Given the description of an element on the screen output the (x, y) to click on. 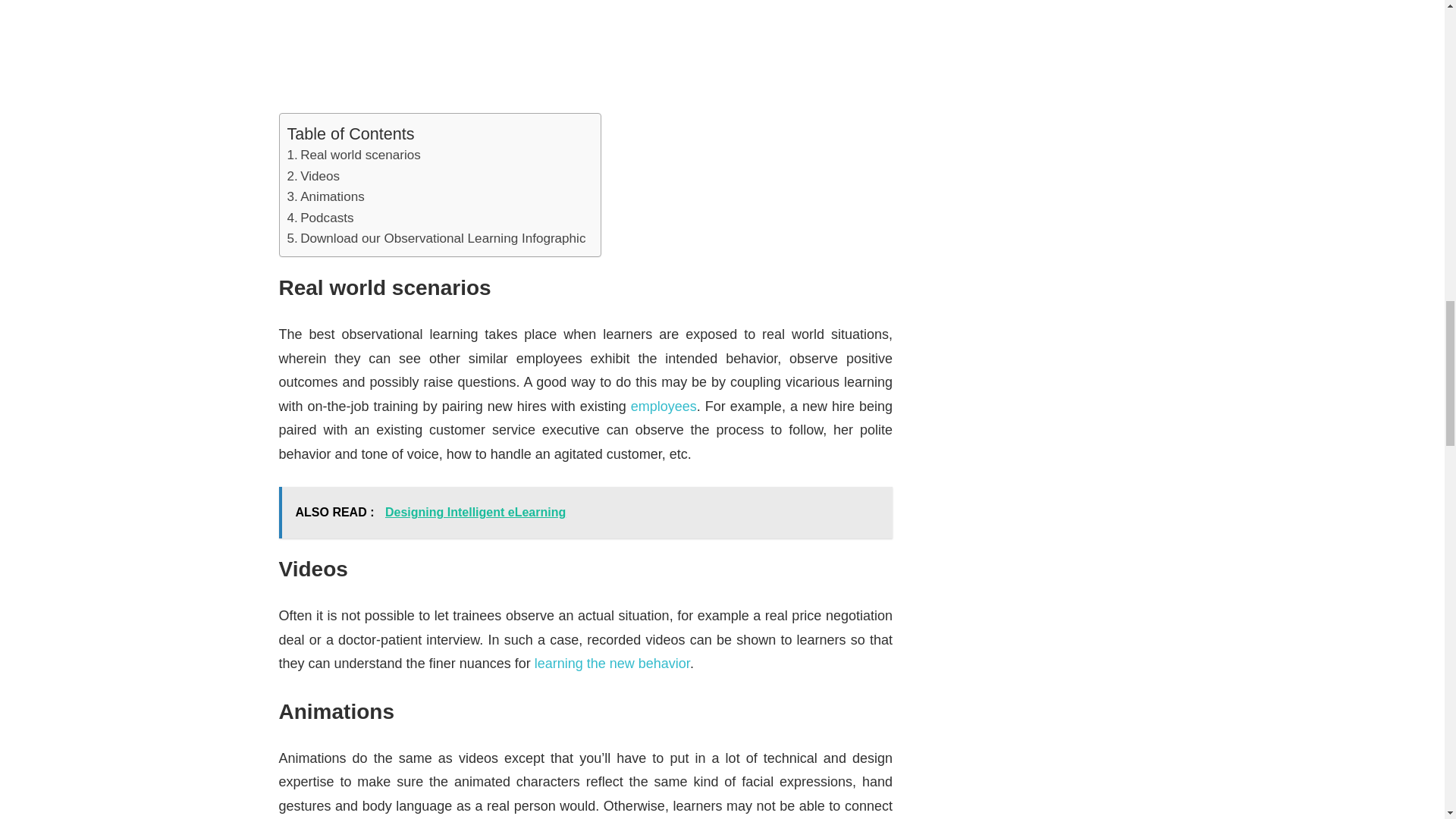
Videos (312, 176)
Real world scenarios (353, 154)
Videos (312, 176)
ALSO READ :   Designing Intelligent eLearning (586, 512)
Download our Observational Learning Infographic (435, 238)
Podcasts (319, 218)
Podcasts (319, 218)
Animations (325, 196)
learning the new behavior (610, 663)
Animations (325, 196)
Download our Observational Learning Infographic (435, 238)
employees (663, 406)
Real world scenarios (353, 154)
